Given the description of an element on the screen output the (x, y) to click on. 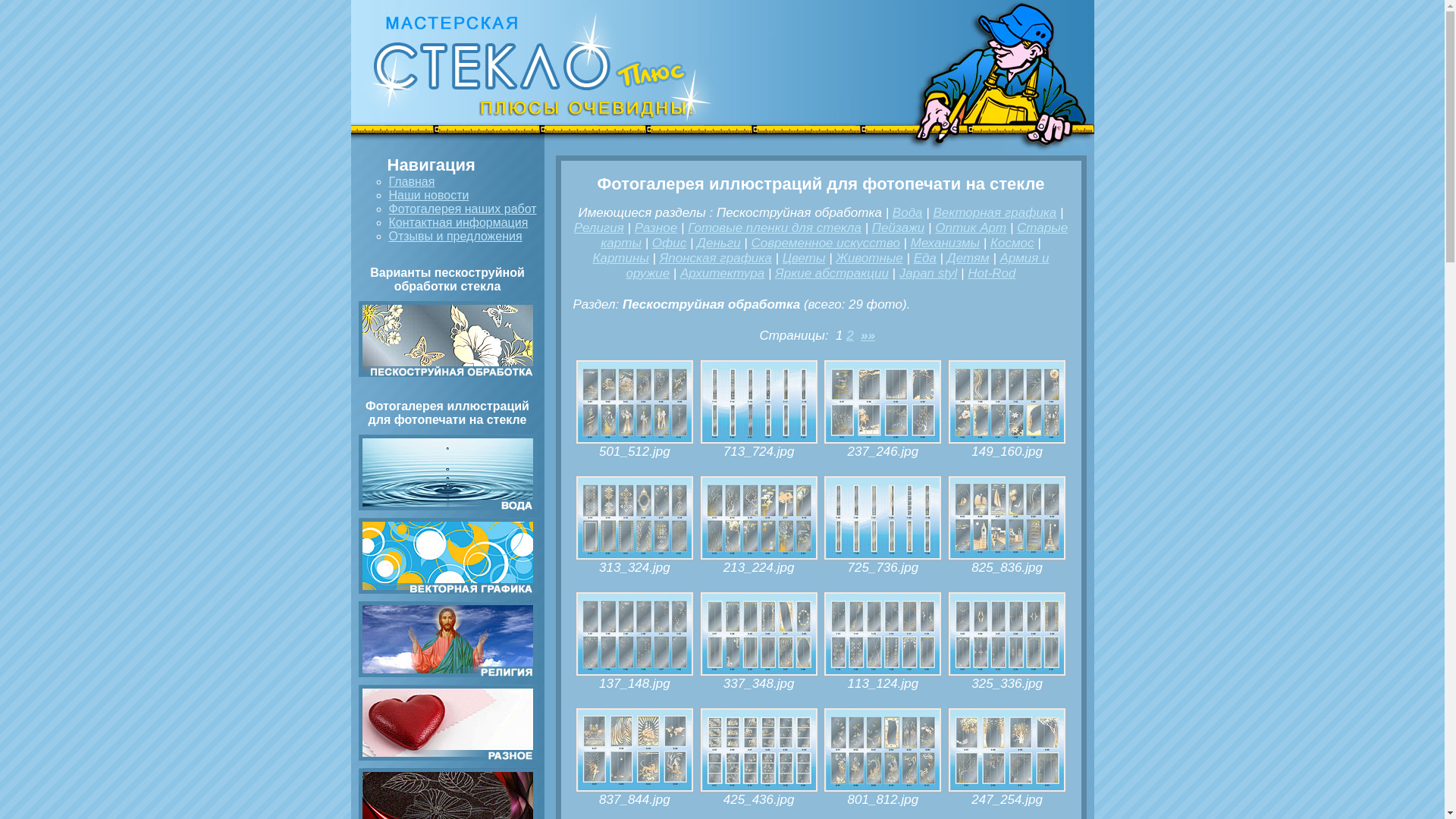
Japan styl Element type: text (928, 273)
Hot-Rod Element type: text (991, 273)
2 Element type: text (849, 335)
